Given the description of an element on the screen output the (x, y) to click on. 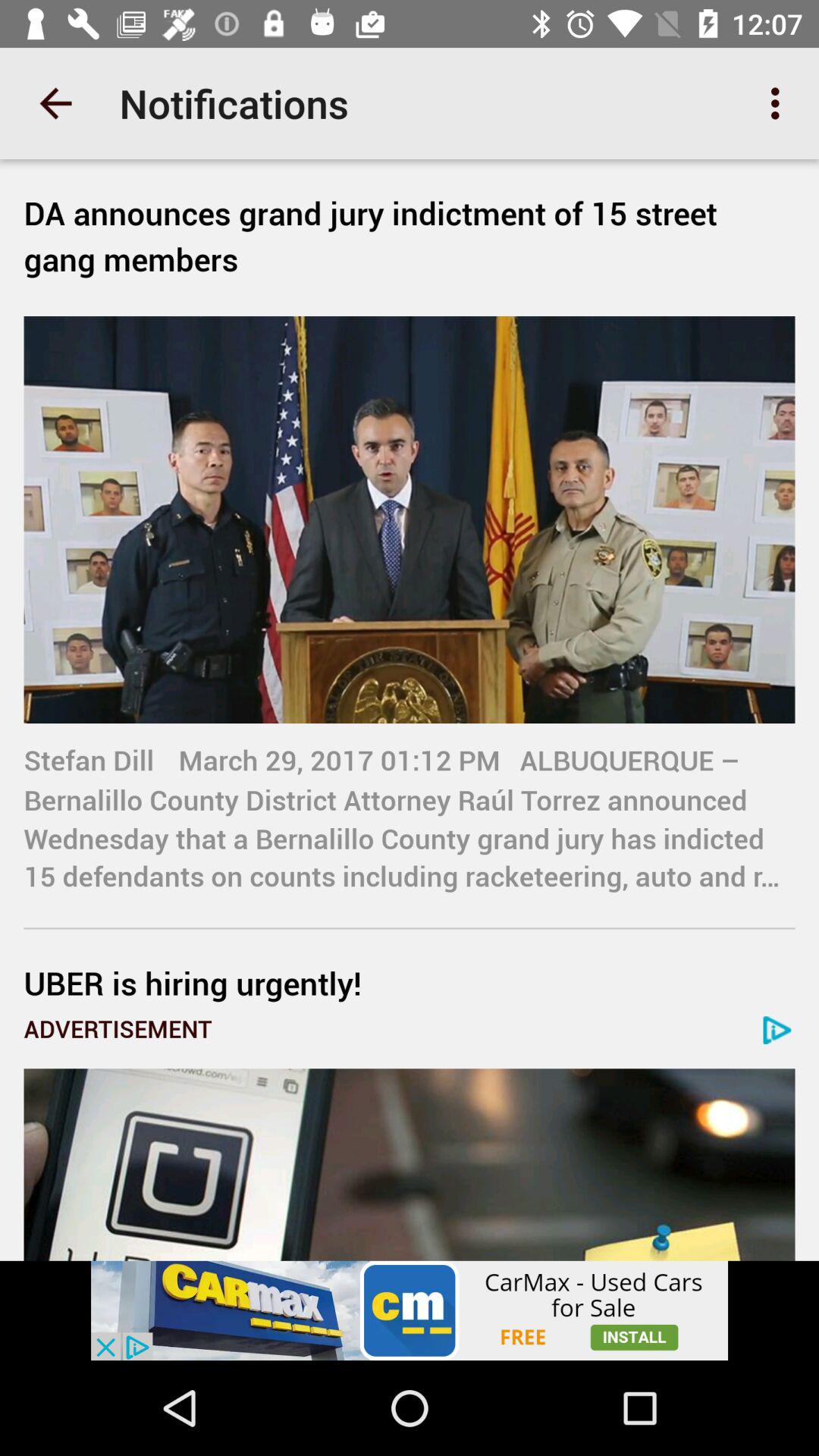
select the icon at the top right corner (779, 103)
